Given the description of an element on the screen output the (x, y) to click on. 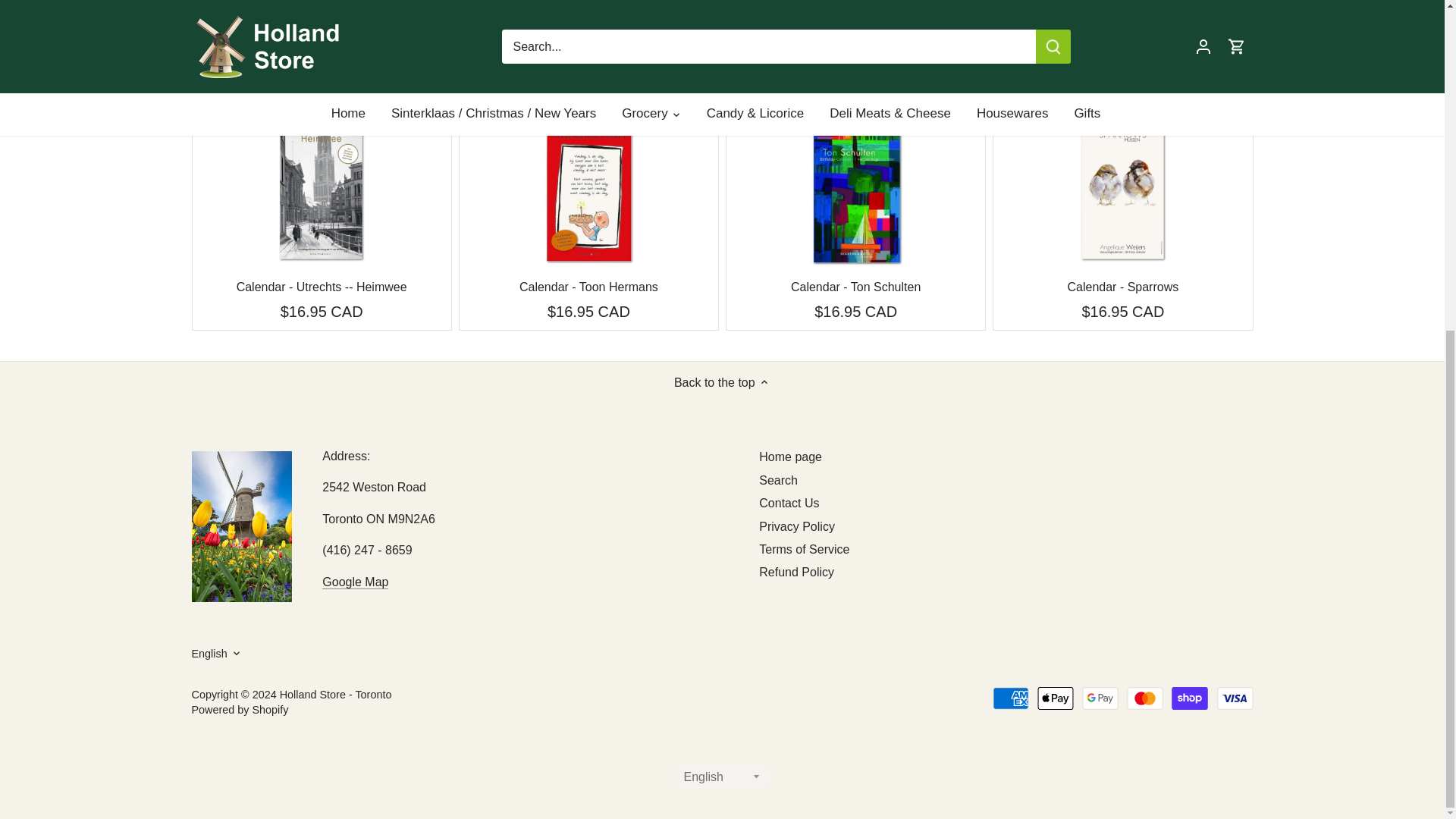
Apple Pay (1055, 698)
American Express (1010, 698)
Google Pay (1099, 698)
Calendar - Utrechts -- Heimwee (322, 286)
Visa (1233, 698)
Mastercard (1144, 698)
Shop Pay (1190, 698)
